Given the description of an element on the screen output the (x, y) to click on. 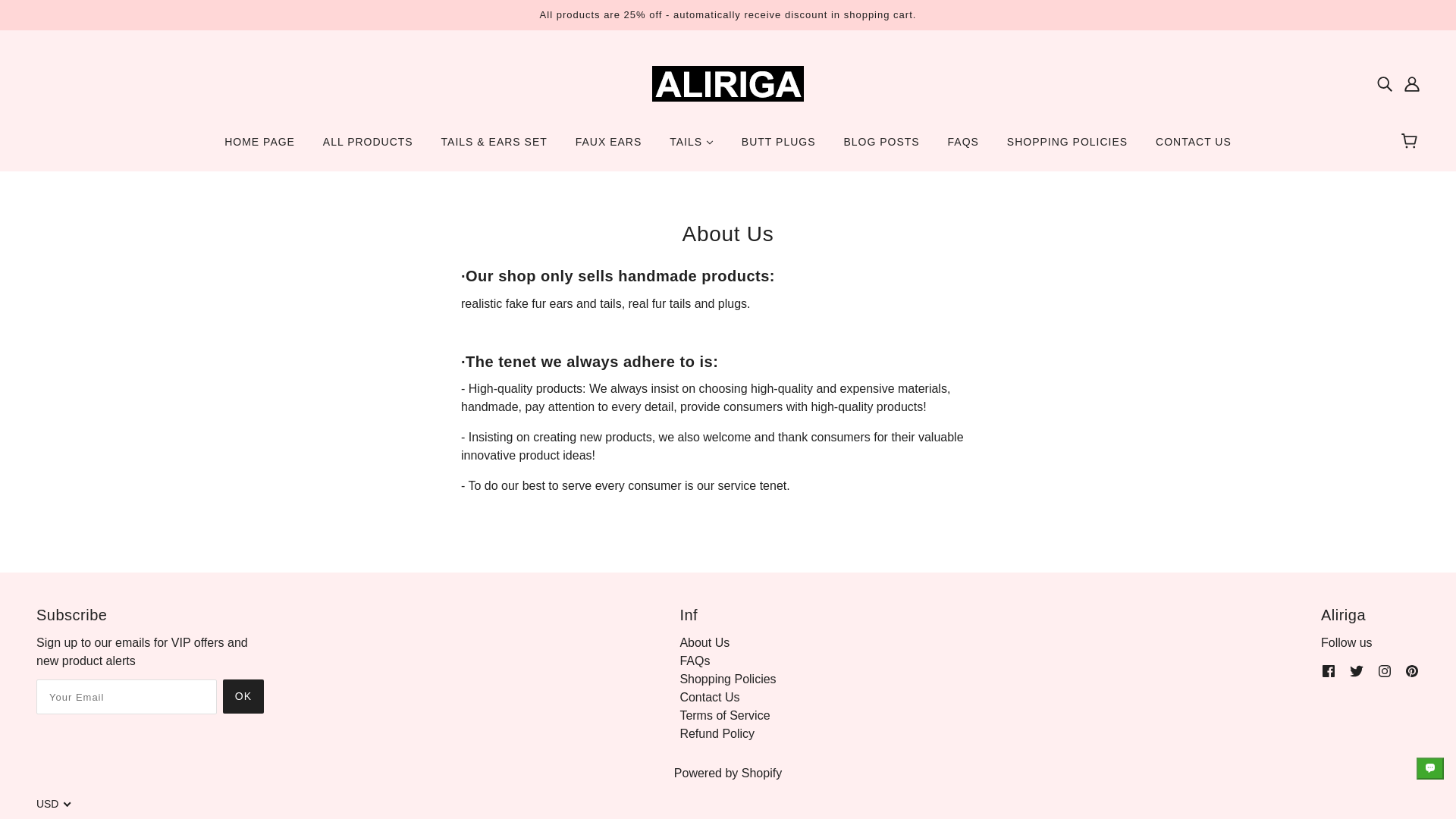
Contact Us (709, 697)
HOME PAGE (259, 147)
FAUX EARS (608, 147)
Shopping Policies (727, 678)
TAILS (691, 147)
Aliriga (727, 82)
ALL PRODUCTS (368, 147)
FAQs (694, 660)
About Us (704, 642)
Refund Policy (716, 733)
